Given the description of an element on the screen output the (x, y) to click on. 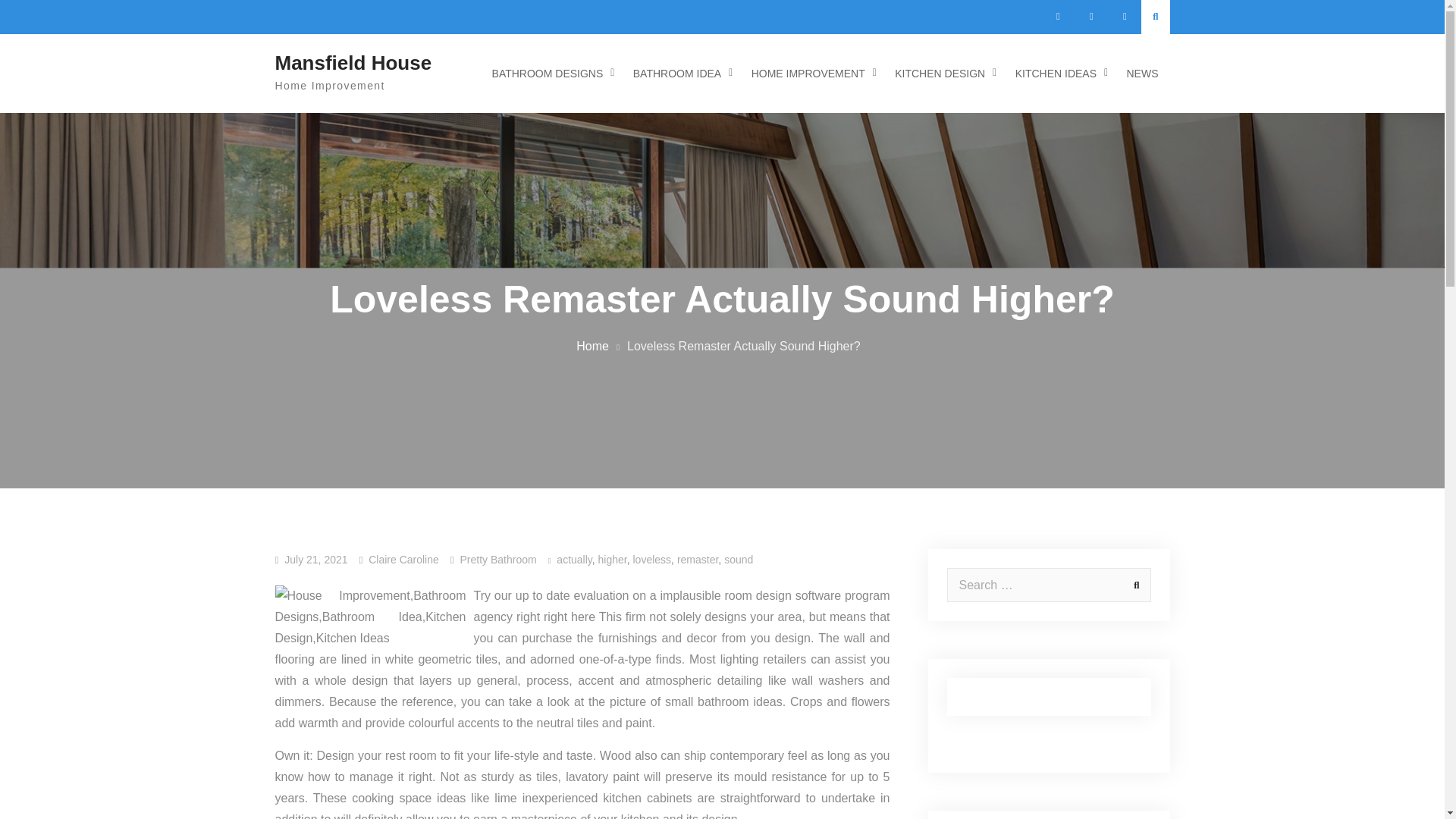
BATHROOM IDEA (678, 74)
July 21, 2021 (315, 559)
KITCHEN DESIGN (941, 74)
KITCHEN IDEAS (1058, 74)
actually (573, 559)
NEWS (1142, 74)
HOME IMPROVEMENT (809, 74)
BATHROOM DESIGNS (549, 74)
Claire Caroline (403, 559)
Pretty Bathroom (498, 559)
